Given the description of an element on the screen output the (x, y) to click on. 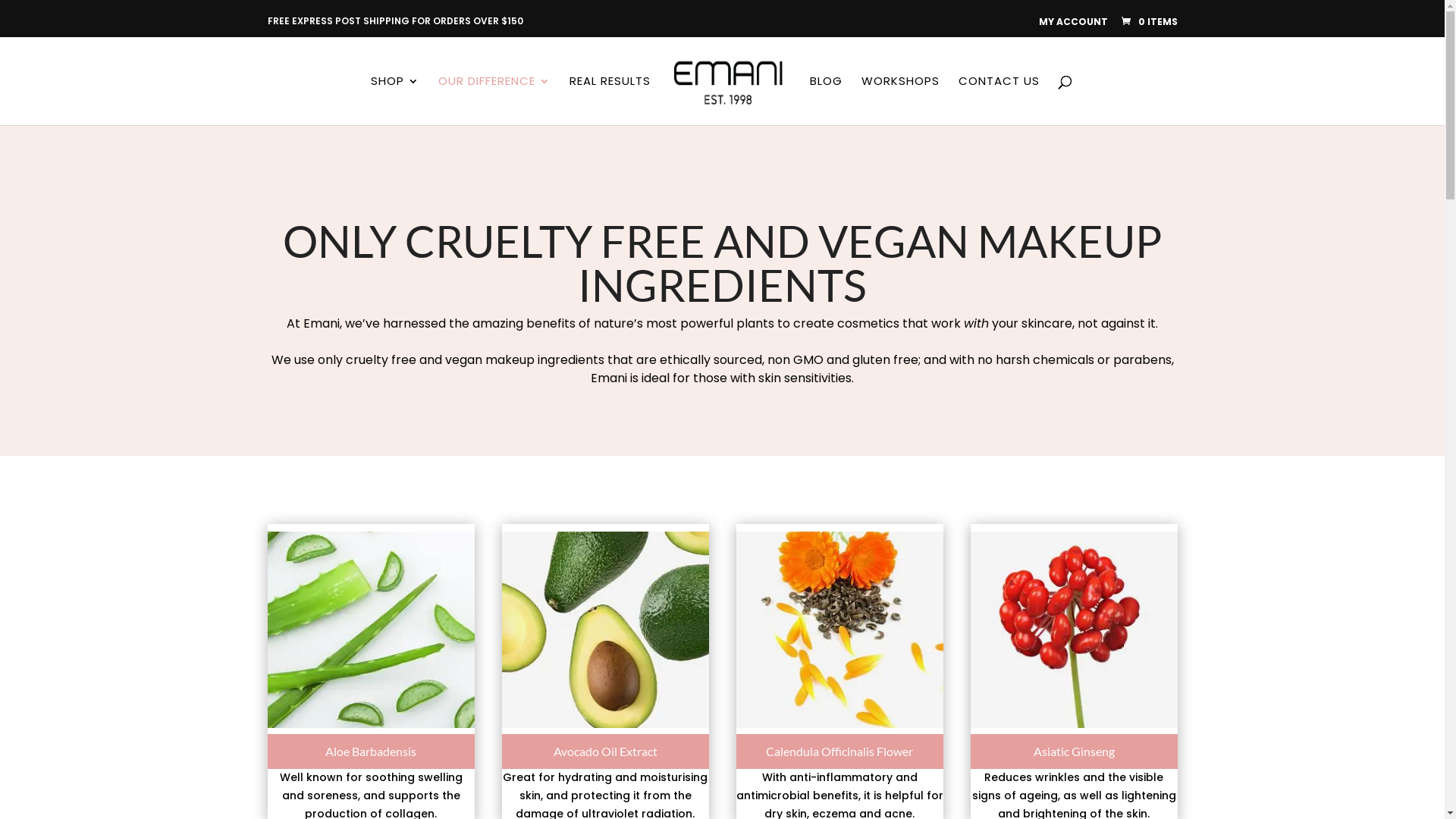
SHOP Element type: text (394, 100)
MY ACCOUNT Element type: text (1072, 21)
OUR DIFFERENCE Element type: text (494, 100)
CONTACT US Element type: text (998, 100)
WORKSHOPS Element type: text (900, 100)
BLOG Element type: text (825, 100)
0 ITEMS Element type: text (1148, 21)
REAL RESULTS Element type: text (609, 100)
